Given the description of an element on the screen output the (x, y) to click on. 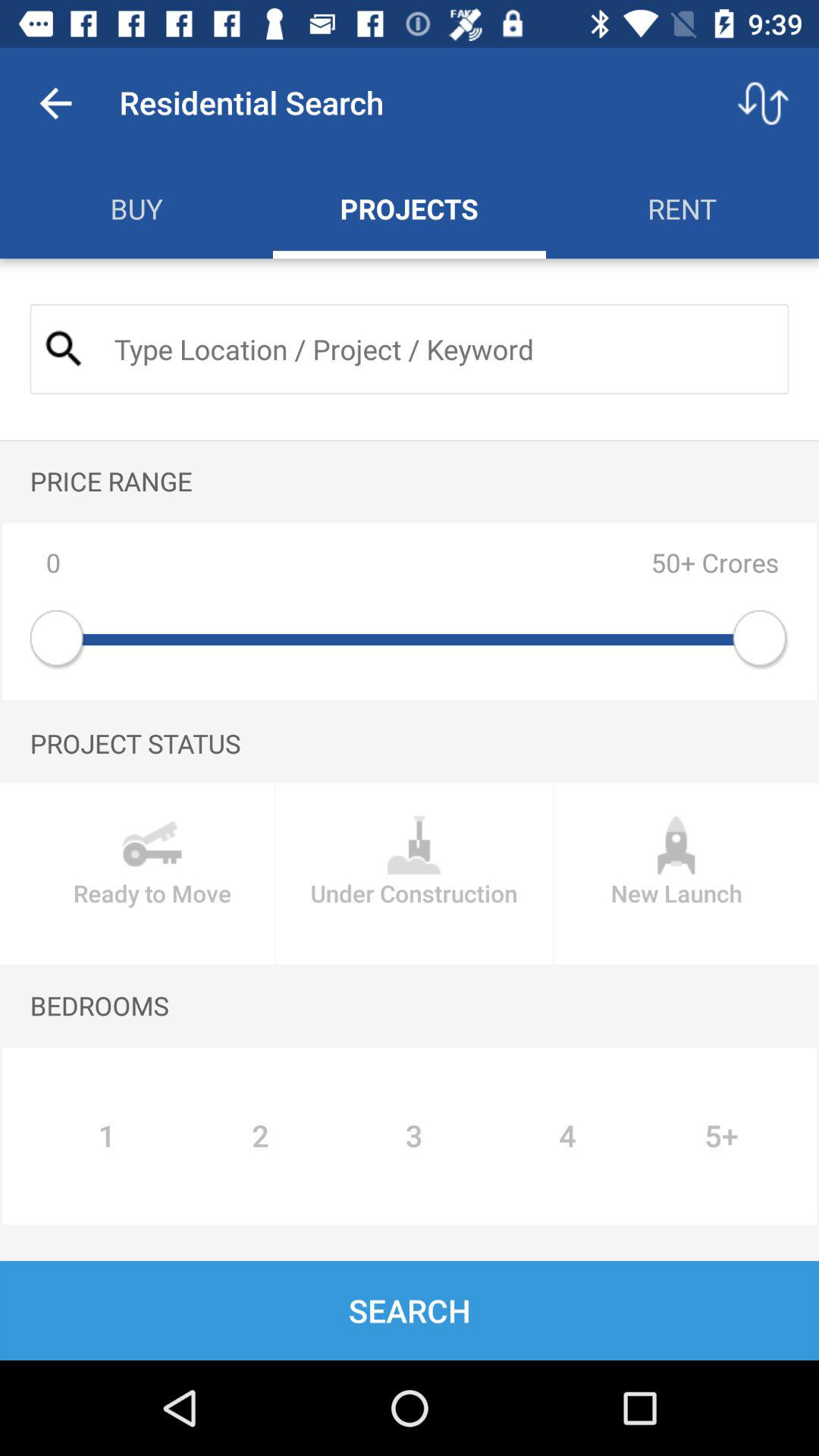
scroll to new launch icon (676, 873)
